Given the description of an element on the screen output the (x, y) to click on. 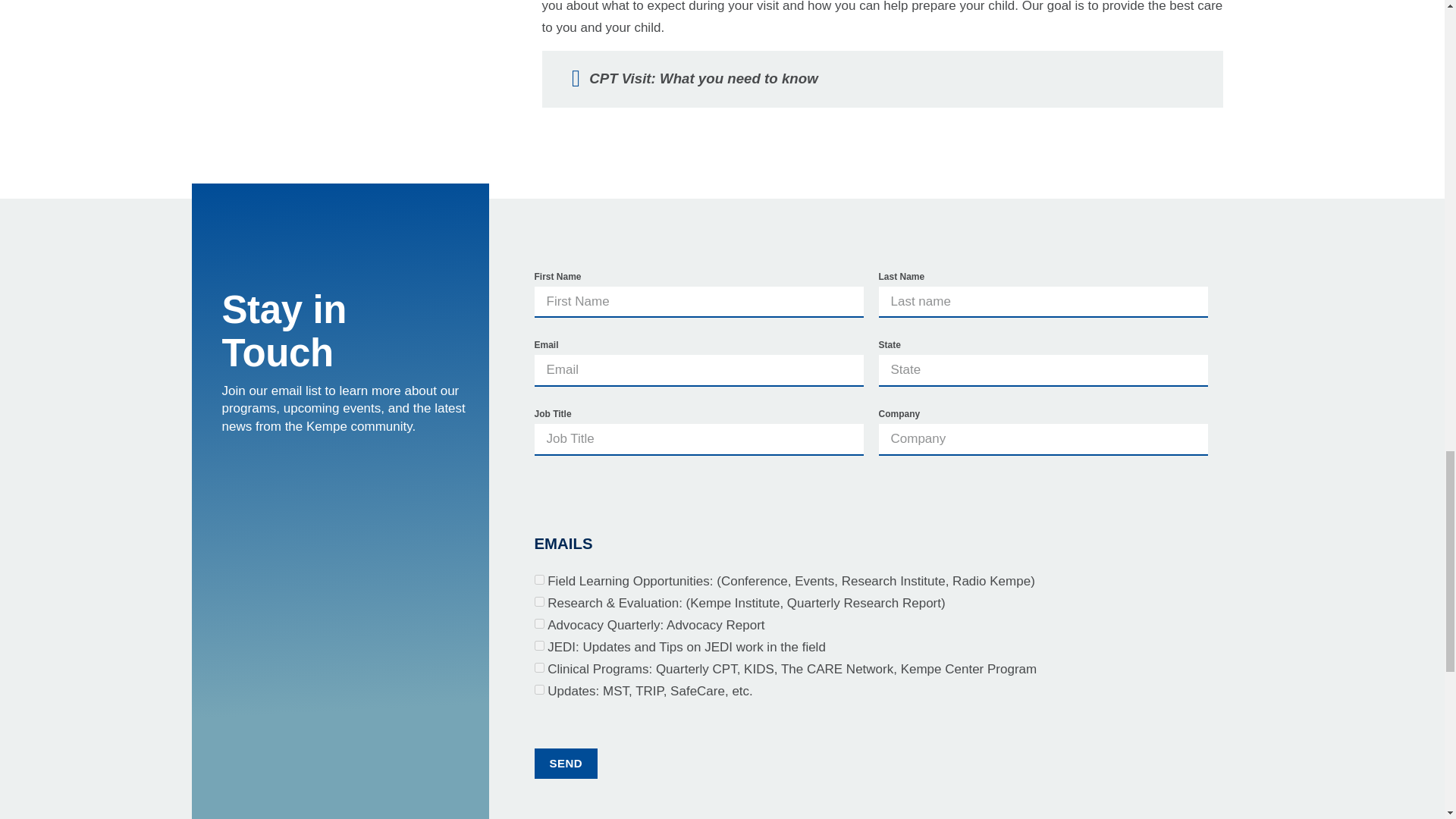
JEDI: Updates and Tips on JEDI work in the field (538, 645)
Updates: MST, TRIP, SafeCare, etc. (538, 689)
Advocacy Quarterly: Advocacy Report (538, 623)
